Given the description of an element on the screen output the (x, y) to click on. 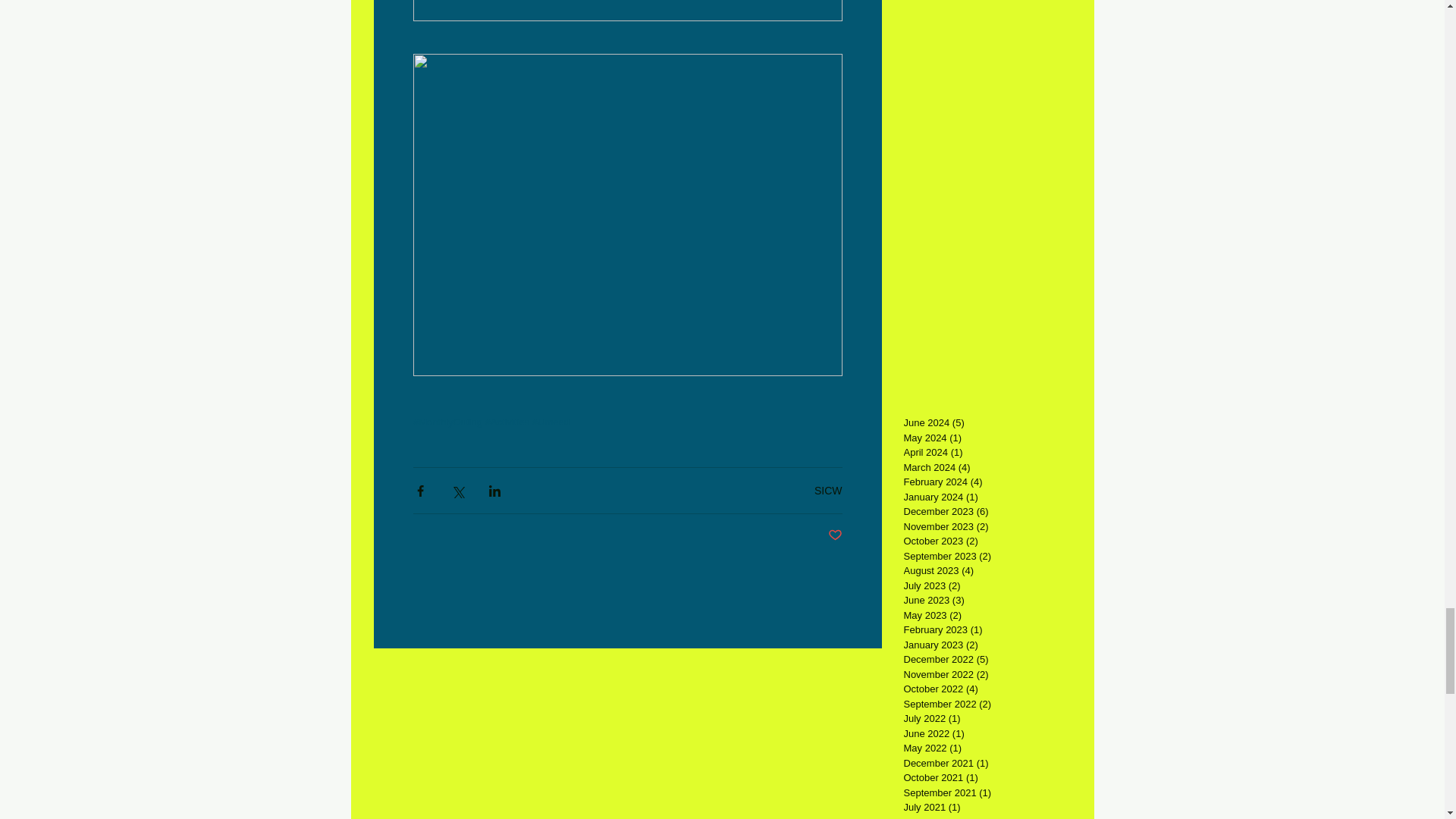
Post not marked as liked (835, 535)
SICW (828, 490)
